Given the description of an element on the screen output the (x, y) to click on. 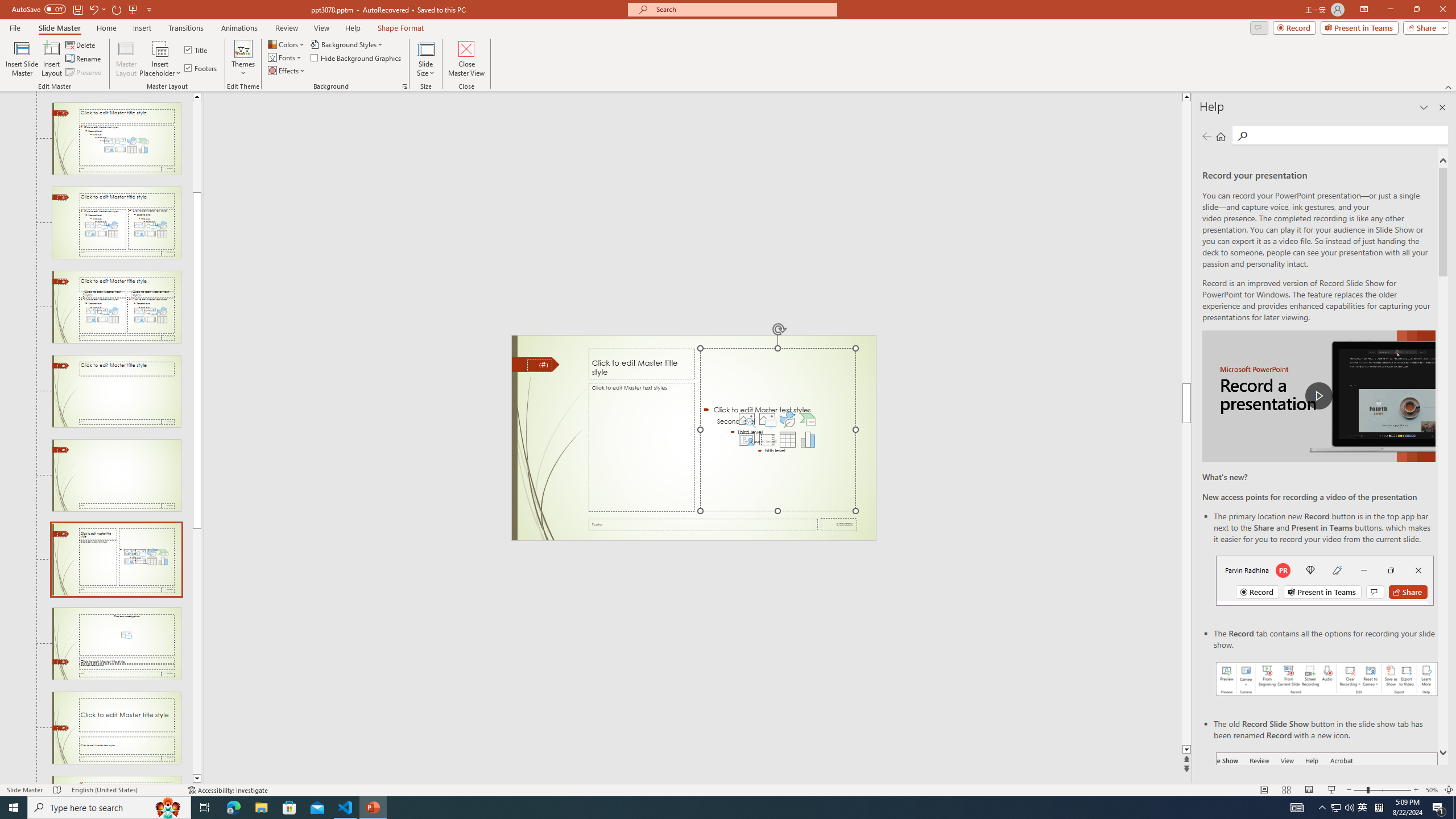
Record button in top bar (1324, 580)
TextBox (641, 446)
Insert a SmartArt Graphic (807, 419)
Freeform 11 (535, 364)
Slide Number (539, 364)
Slide Content with Caption Layout: used by no slides (116, 559)
Stock Images (746, 419)
